Given the description of an element on the screen output the (x, y) to click on. 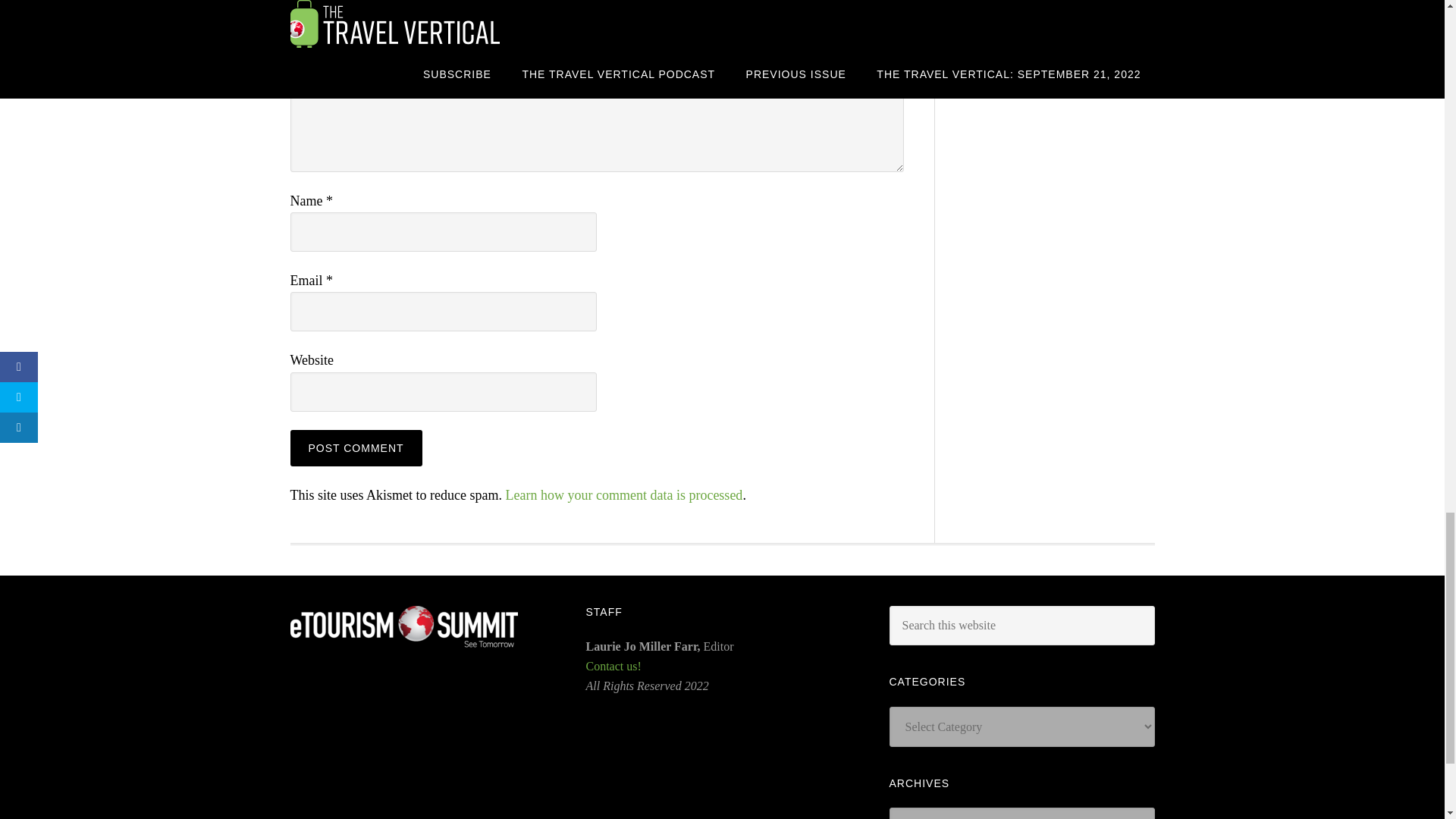
Post Comment (355, 447)
Learn how your comment data is processed (623, 494)
Post Comment (355, 447)
